Given the description of an element on the screen output the (x, y) to click on. 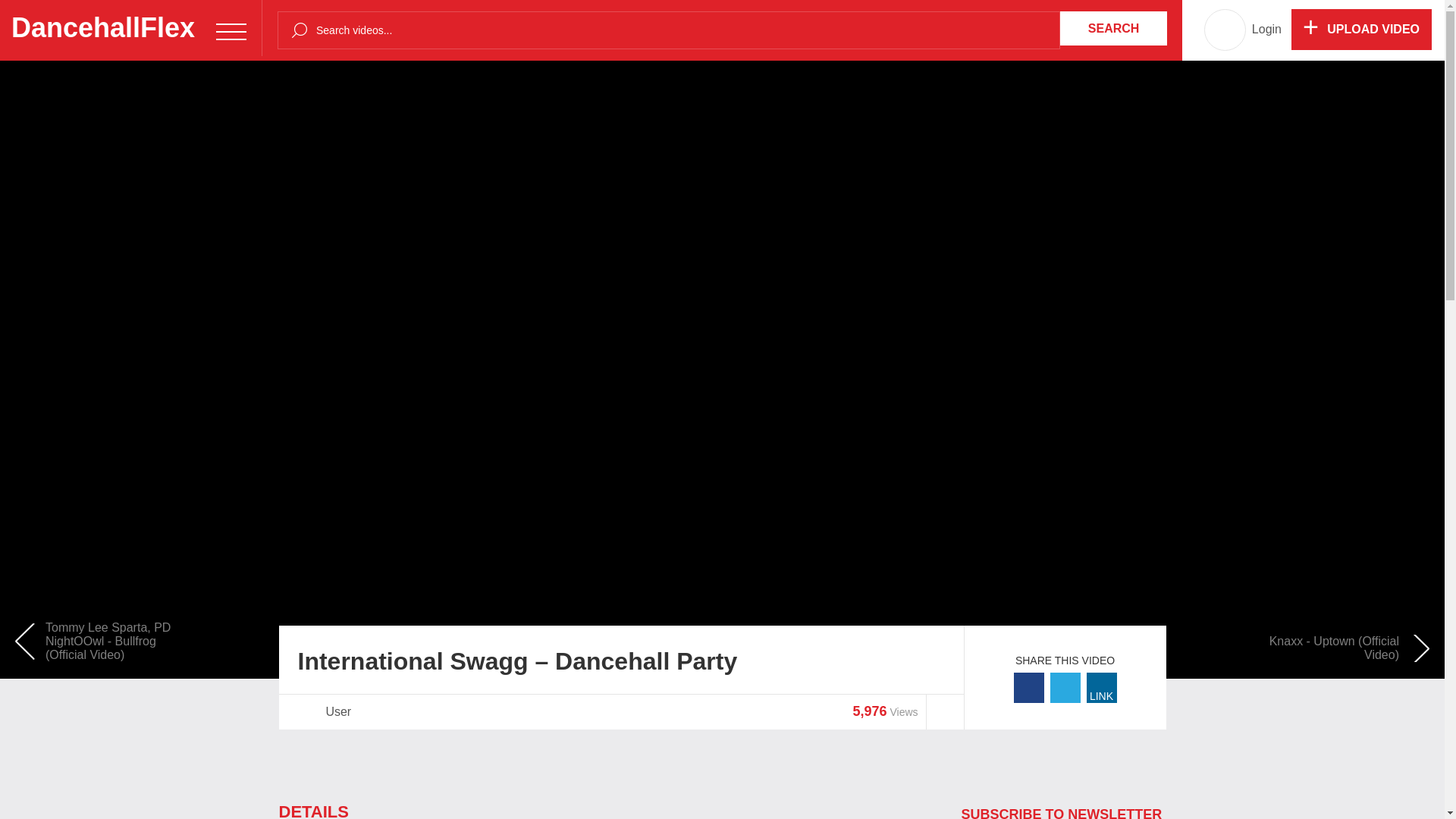
Login (1266, 29)
User (337, 711)
LINKEDIN (1101, 687)
Share this post on Twitter! (1064, 687)
Login (1266, 29)
DancehallFlex (130, 28)
Share this post on Facebook! (1028, 687)
UPLOAD VIDEO (1361, 29)
Search (1113, 28)
Search (1113, 28)
